Given the description of an element on the screen output the (x, y) to click on. 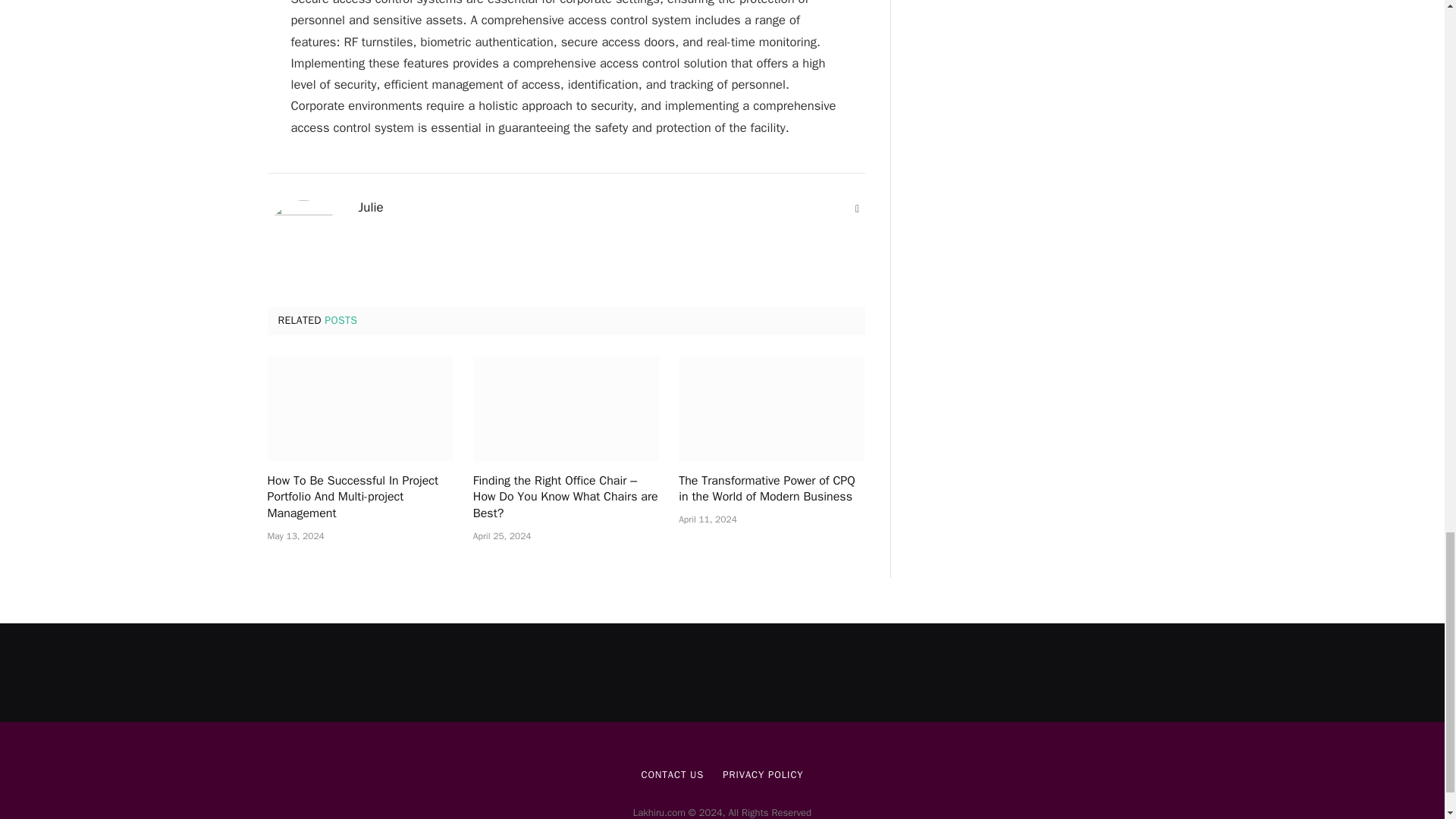
Julie (370, 207)
Website (856, 209)
Website (856, 209)
Posts by Julie (370, 207)
